Given the description of an element on the screen output the (x, y) to click on. 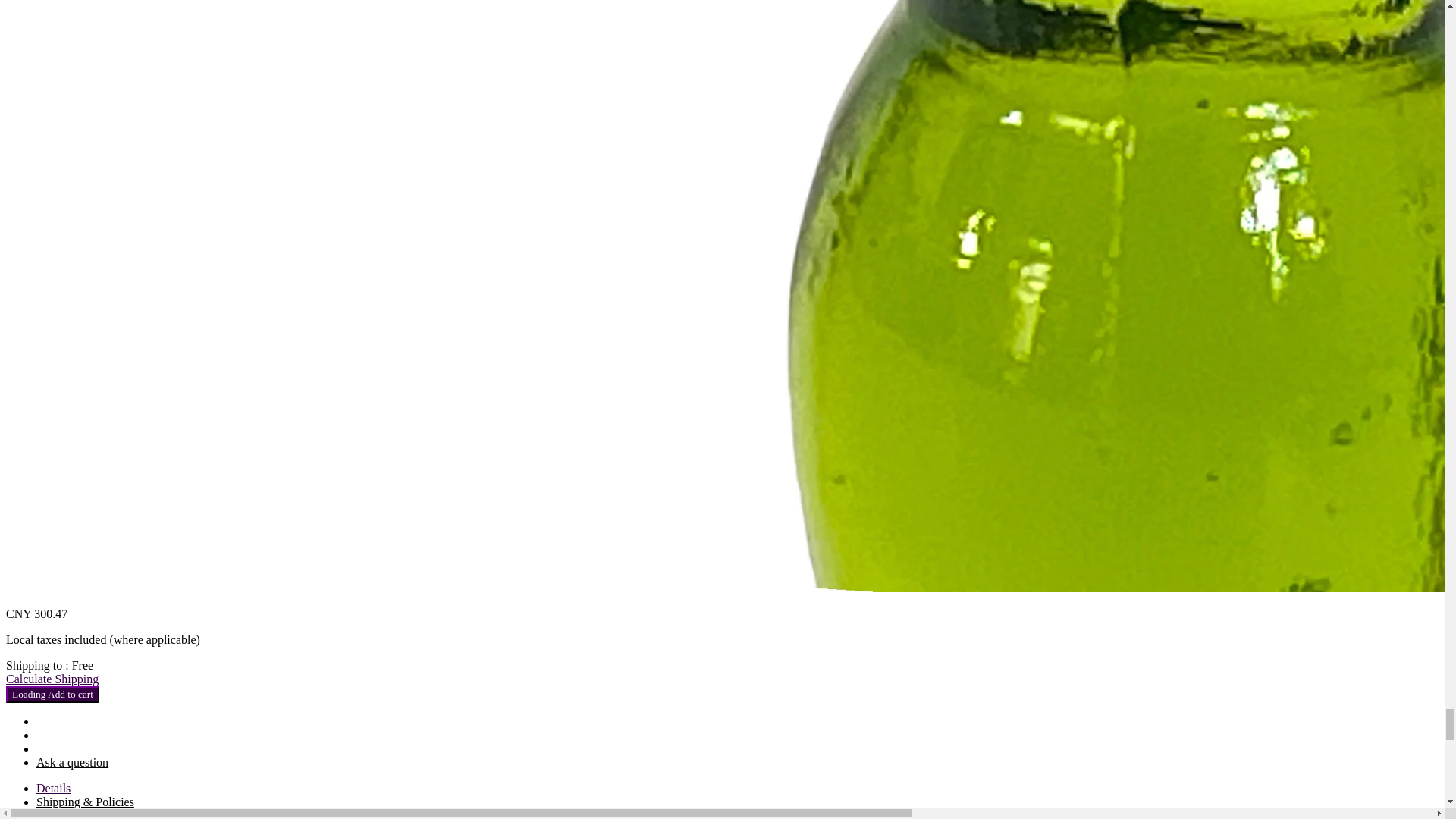
Ask a question (71, 762)
Loading Add to cart (52, 694)
Details (52, 788)
Calculate Shipping (52, 678)
